Given the description of an element on the screen output the (x, y) to click on. 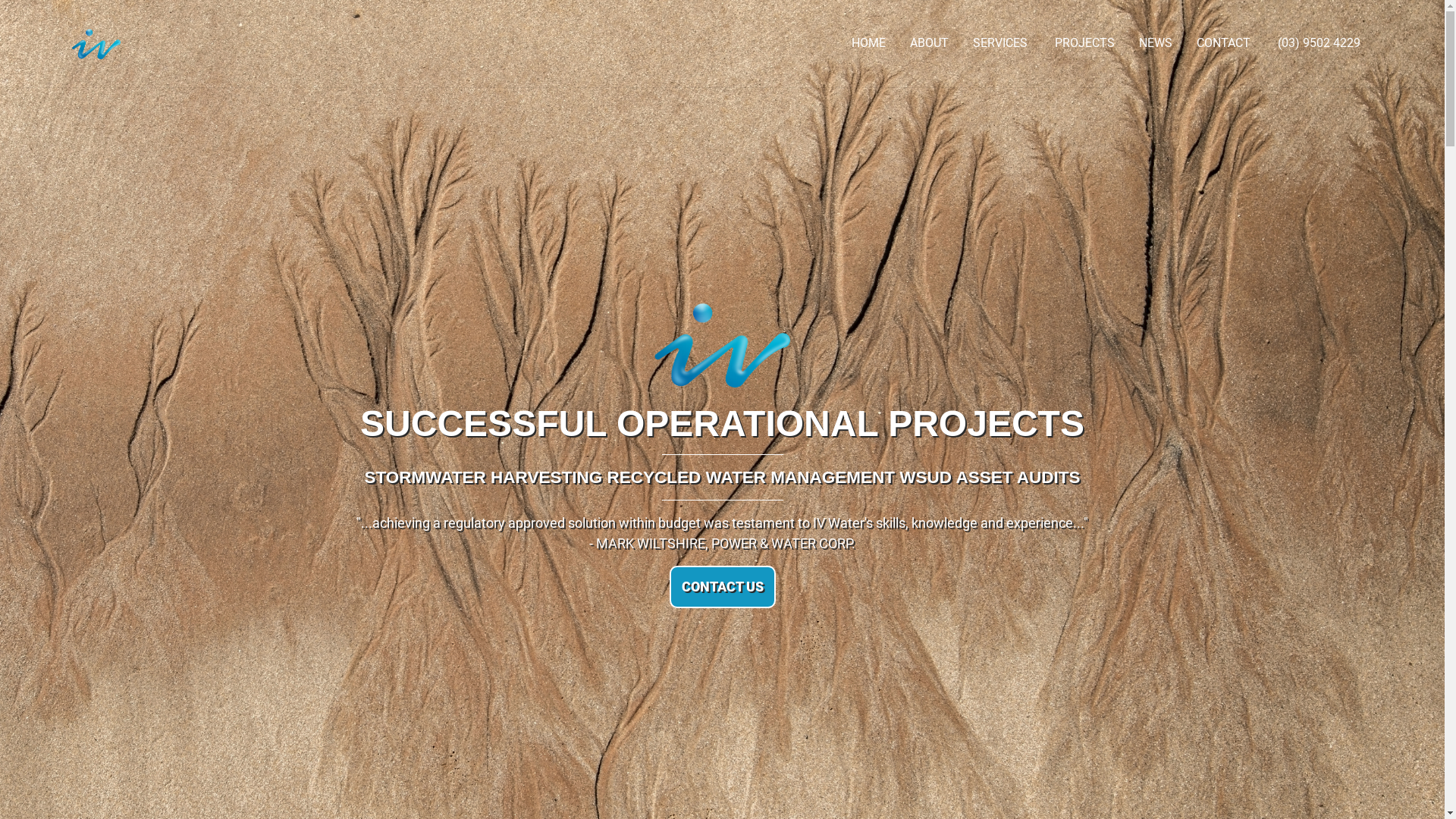
ABOUT Element type: text (928, 43)
SERVICES  Element type: text (1001, 43)
 (03) 9502 4229 Element type: text (1317, 43)
NEWS Element type: text (1155, 43)
HOME Element type: text (868, 43)
PROJECTS Element type: text (1084, 43)
CONTACT Element type: text (1223, 43)
CONTACT US Element type: text (721, 586)
